Given the description of an element on the screen output the (x, y) to click on. 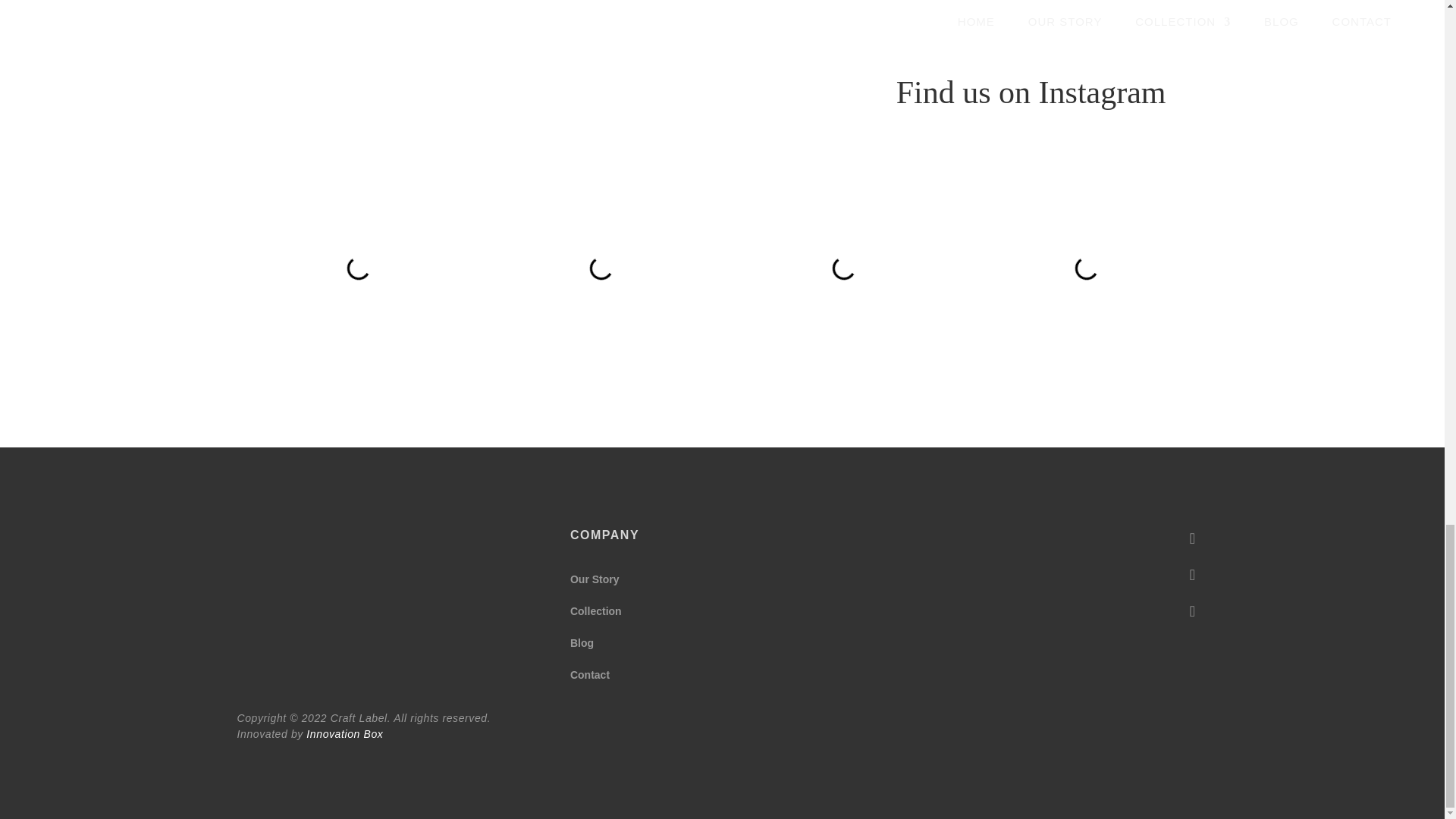
Follow on Twitter (1191, 611)
Follow on Facebook (1191, 538)
Follow on Instagram (1191, 574)
